Given the description of an element on the screen output the (x, y) to click on. 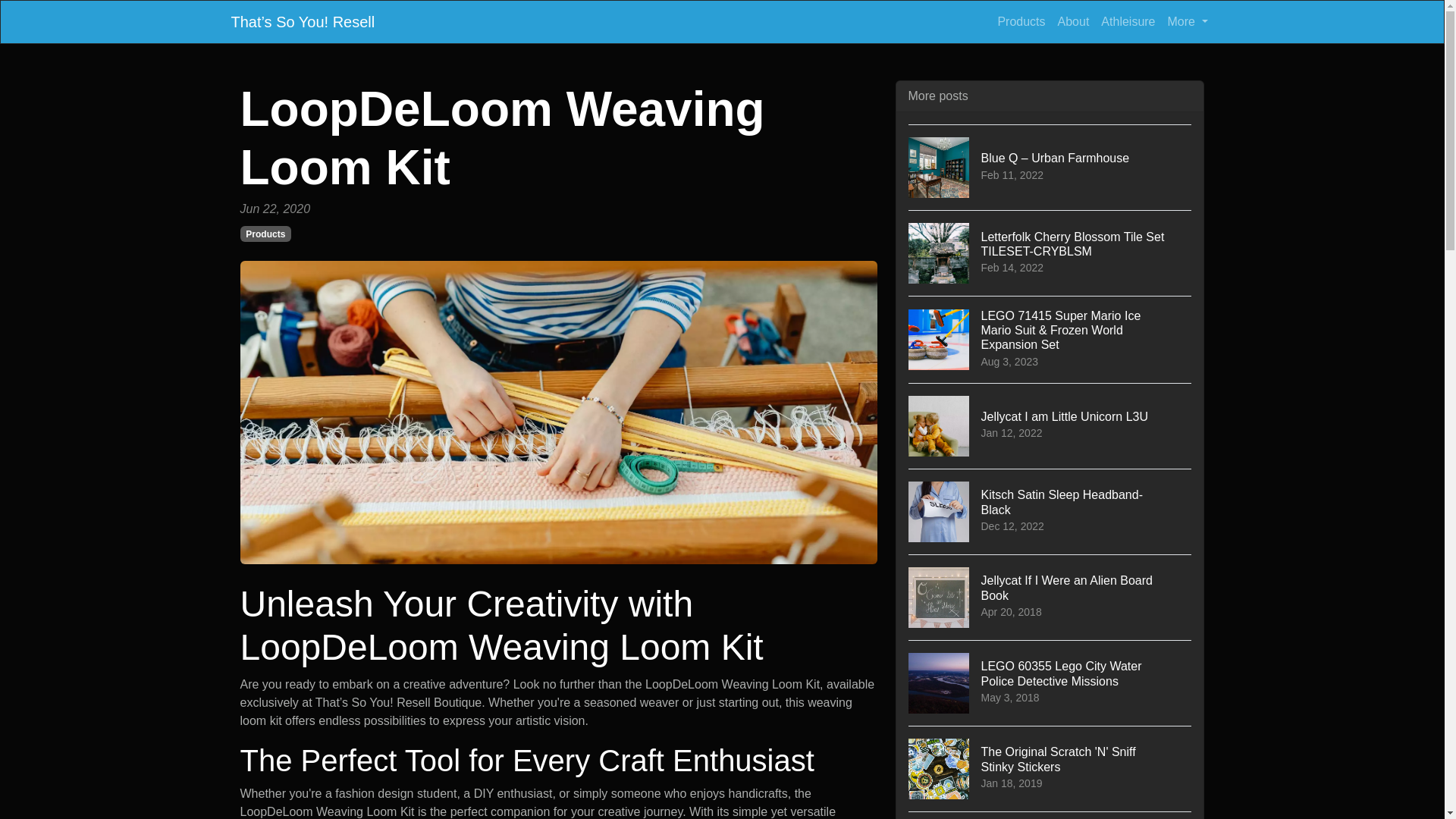
Products (265, 233)
Athleisure (1127, 21)
More (1050, 425)
About (1050, 511)
Products (1050, 815)
